Given the description of an element on the screen output the (x, y) to click on. 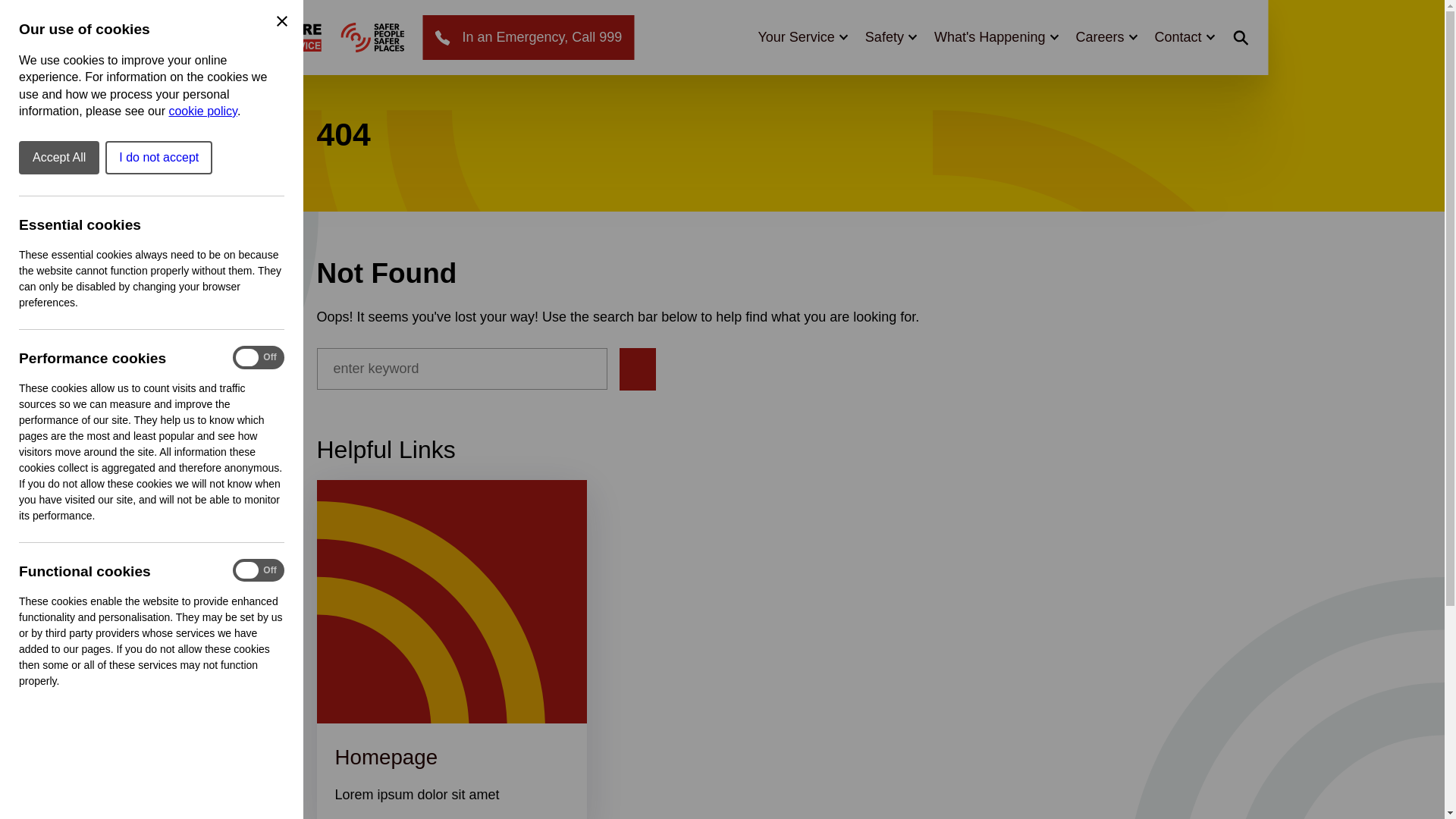
Toggle Search (1240, 37)
A (371, 37)
Your Service (801, 37)
cookie policy (201, 110)
Search (1143, 20)
Careers (1105, 37)
Type search term here (462, 368)
Contact (1183, 37)
Accept All (58, 157)
Safety (889, 37)
Homepage (386, 757)
I do not accept (158, 157)
What's Happening (996, 37)
